Given the description of an element on the screen output the (x, y) to click on. 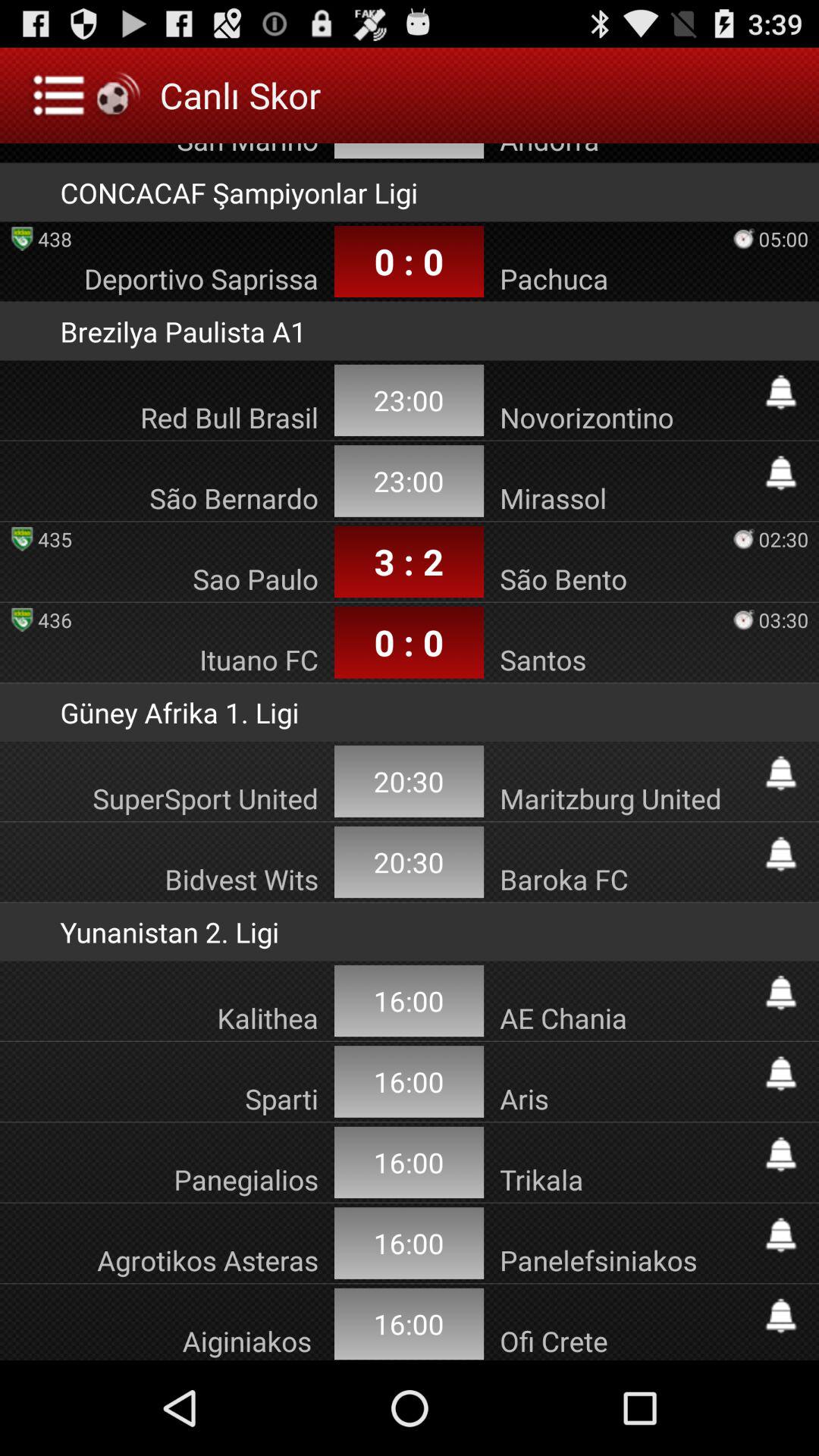
turn on notification (780, 1073)
